Given the description of an element on the screen output the (x, y) to click on. 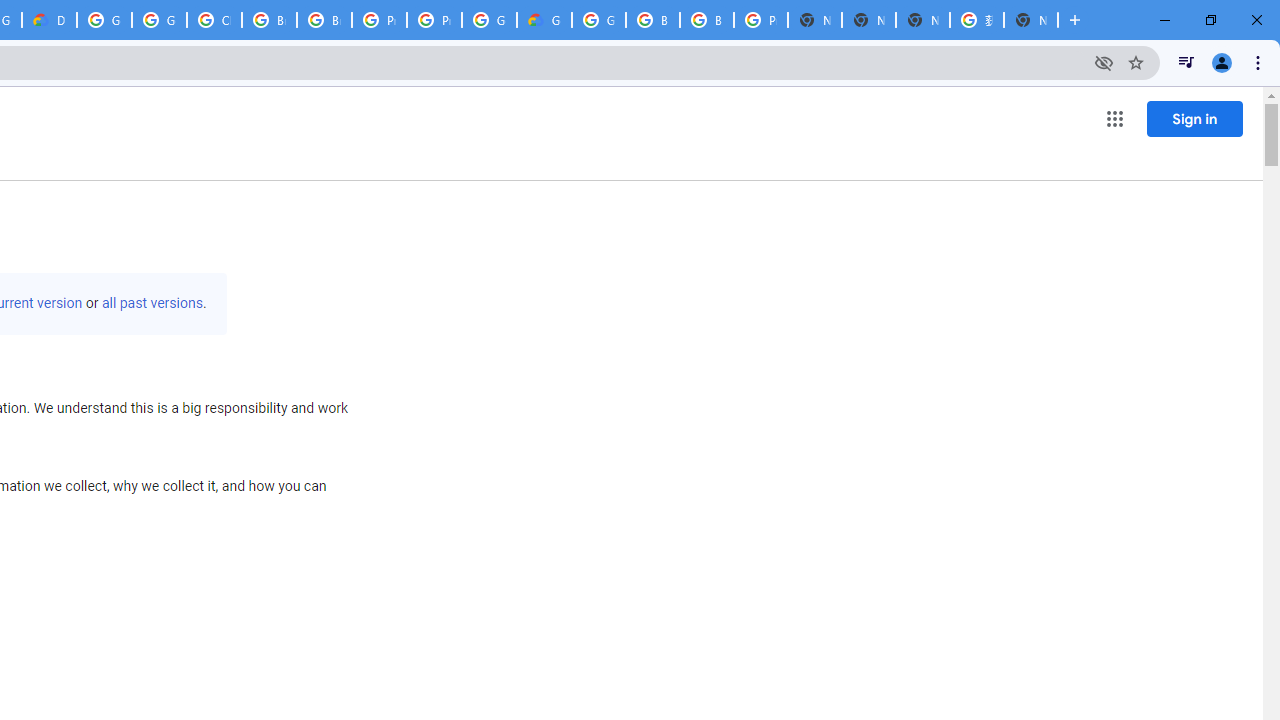
Google Cloud Platform (103, 20)
Browse Chrome as a guest - Computer - Google Chrome Help (268, 20)
